Given the description of an element on the screen output the (x, y) to click on. 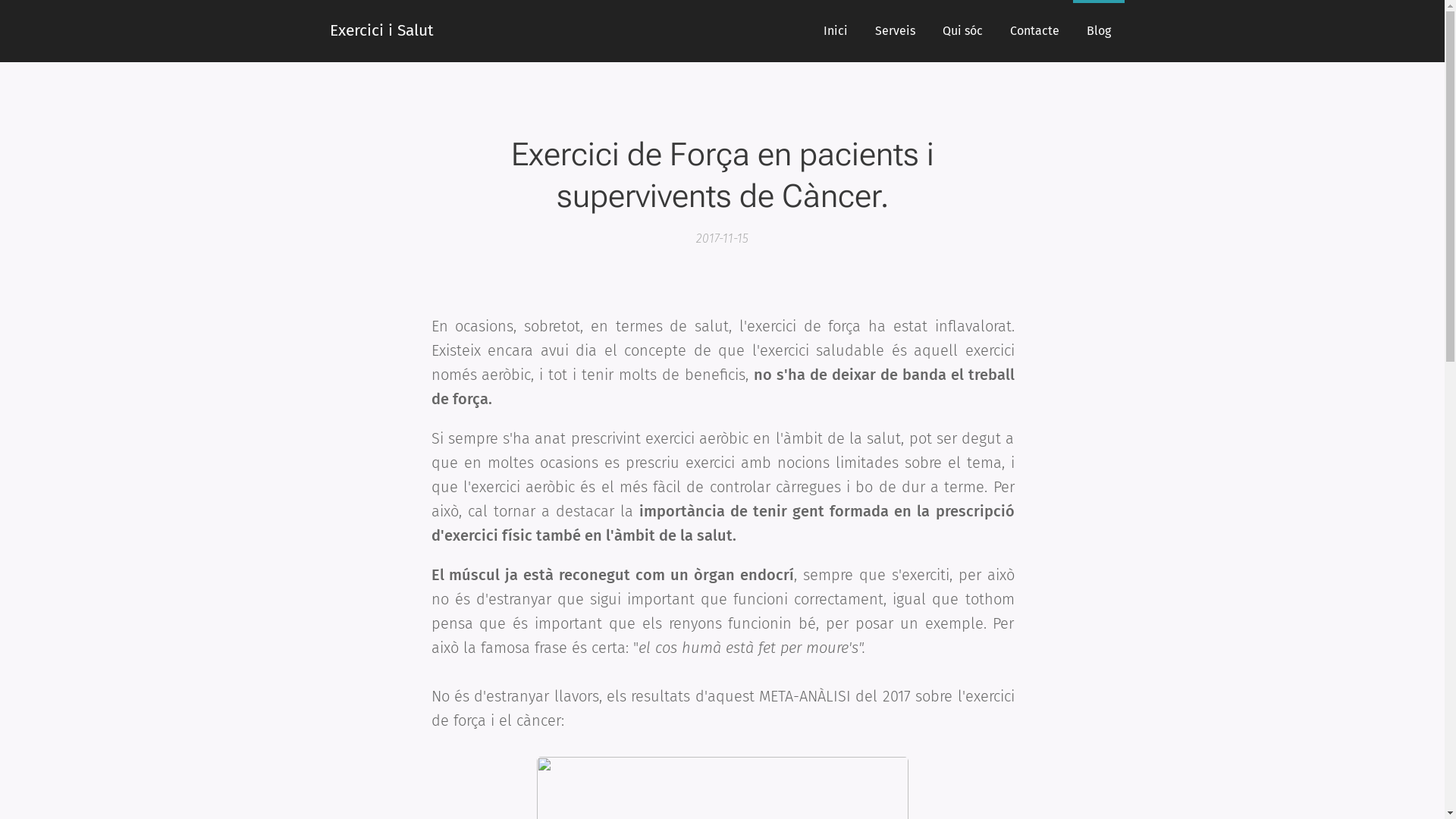
Exercici i Salut Element type: text (378, 30)
Inici Element type: text (835, 31)
Blog Element type: text (1097, 31)
Contacte Element type: text (1034, 31)
Serveis Element type: text (894, 31)
